Given the description of an element on the screen output the (x, y) to click on. 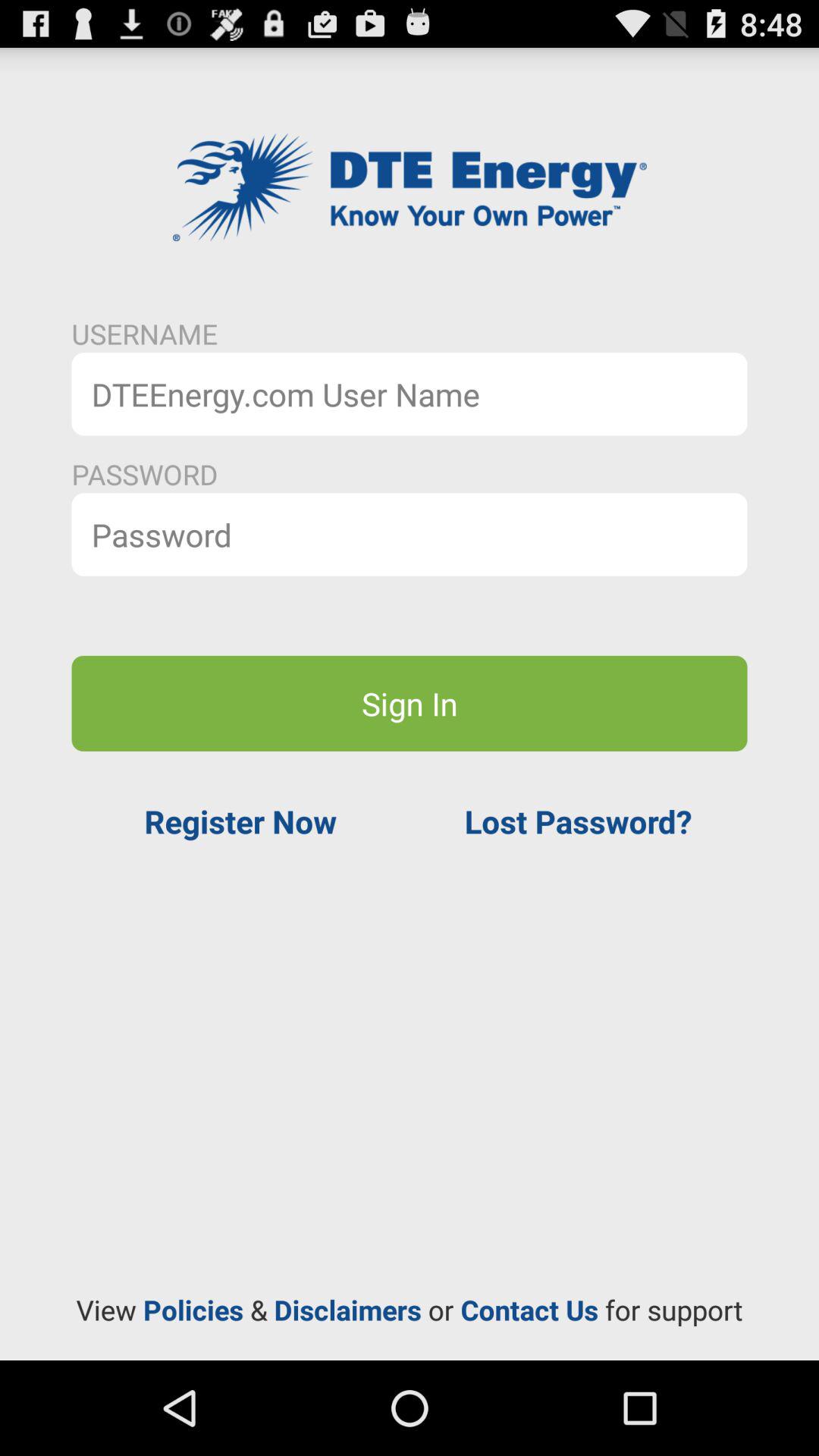
open the icon below sign in icon (240, 821)
